Given the description of an element on the screen output the (x, y) to click on. 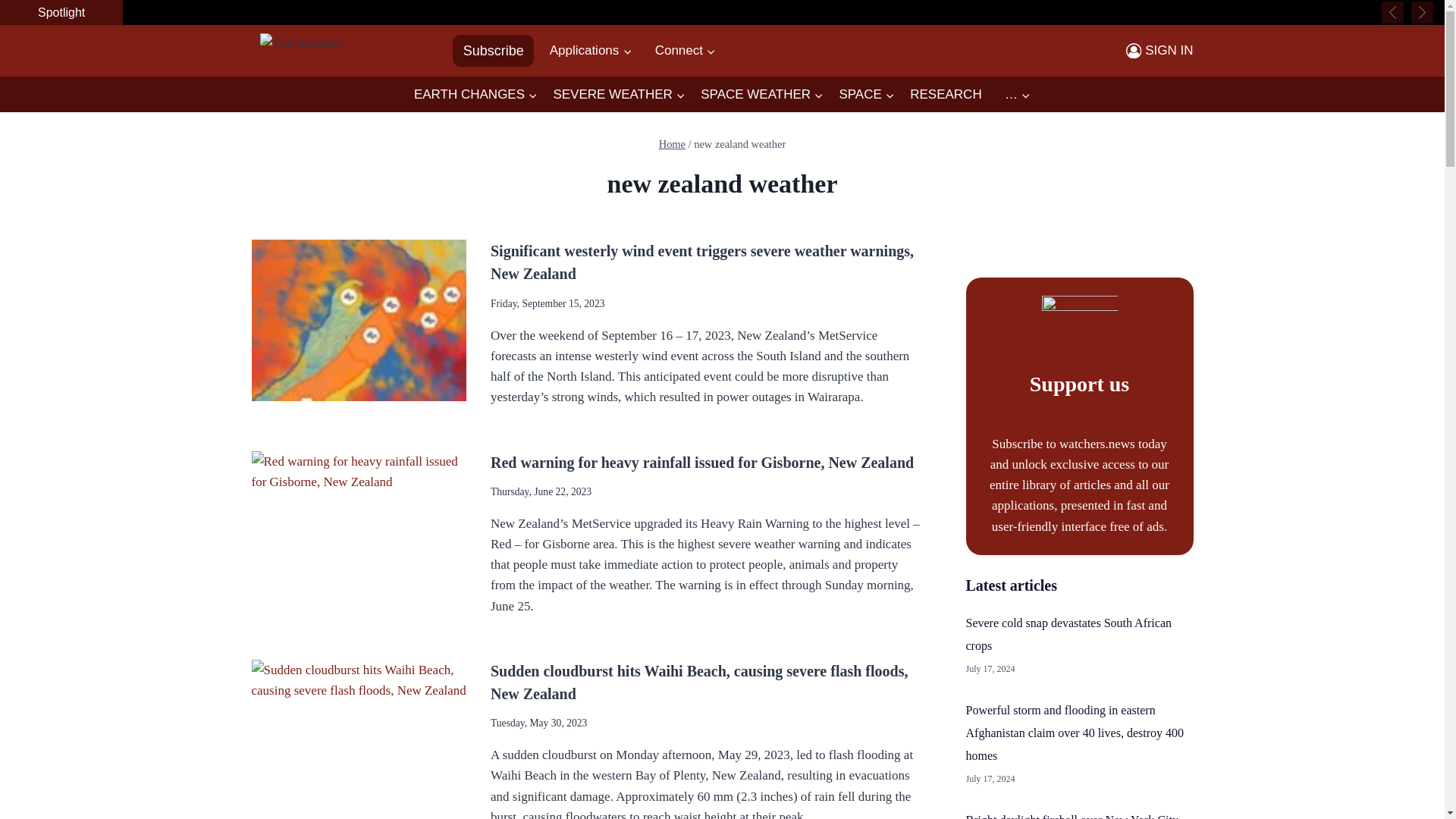
Subscribe (493, 50)
Applications (590, 50)
SIGN IN (1159, 50)
EARTH CHANGES (475, 94)
Connect (685, 50)
